Given the description of an element on the screen output the (x, y) to click on. 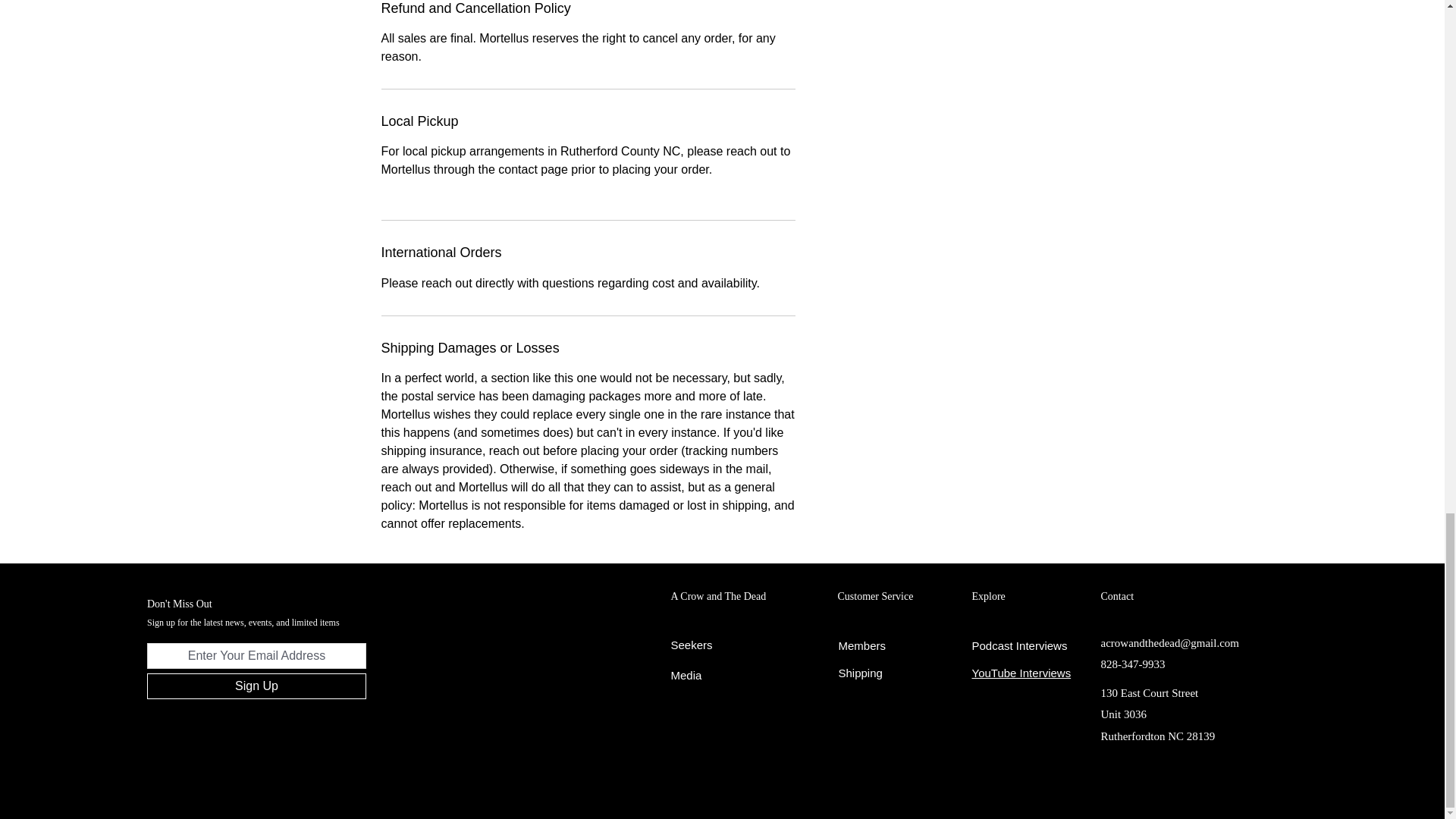
Members (862, 645)
Sign Up (256, 686)
Seekers  (691, 644)
Shipping (860, 672)
Podcast Interviews (1019, 645)
828-347-9933 (1133, 663)
YouTube Interviews (1021, 672)
